Given the description of an element on the screen output the (x, y) to click on. 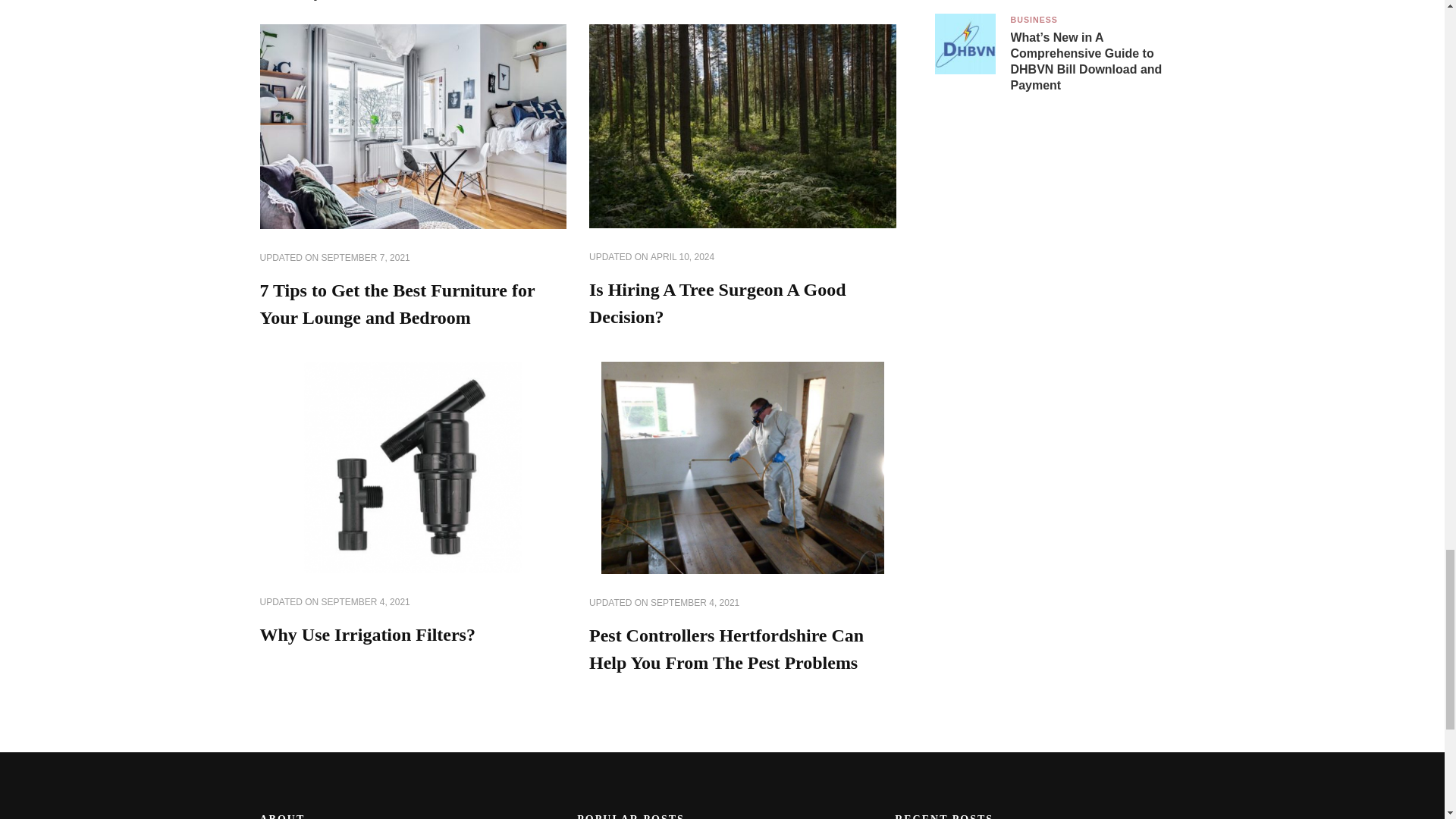
7 Tips to Get the Best Furniture for Your Lounge and Bedroom (396, 303)
APRIL 10, 2024 (682, 257)
SEPTEMBER 4, 2021 (365, 602)
Is Hiring A Tree Surgeon A Good Decision? (717, 303)
SEPTEMBER 7, 2021 (365, 258)
